Given the description of an element on the screen output the (x, y) to click on. 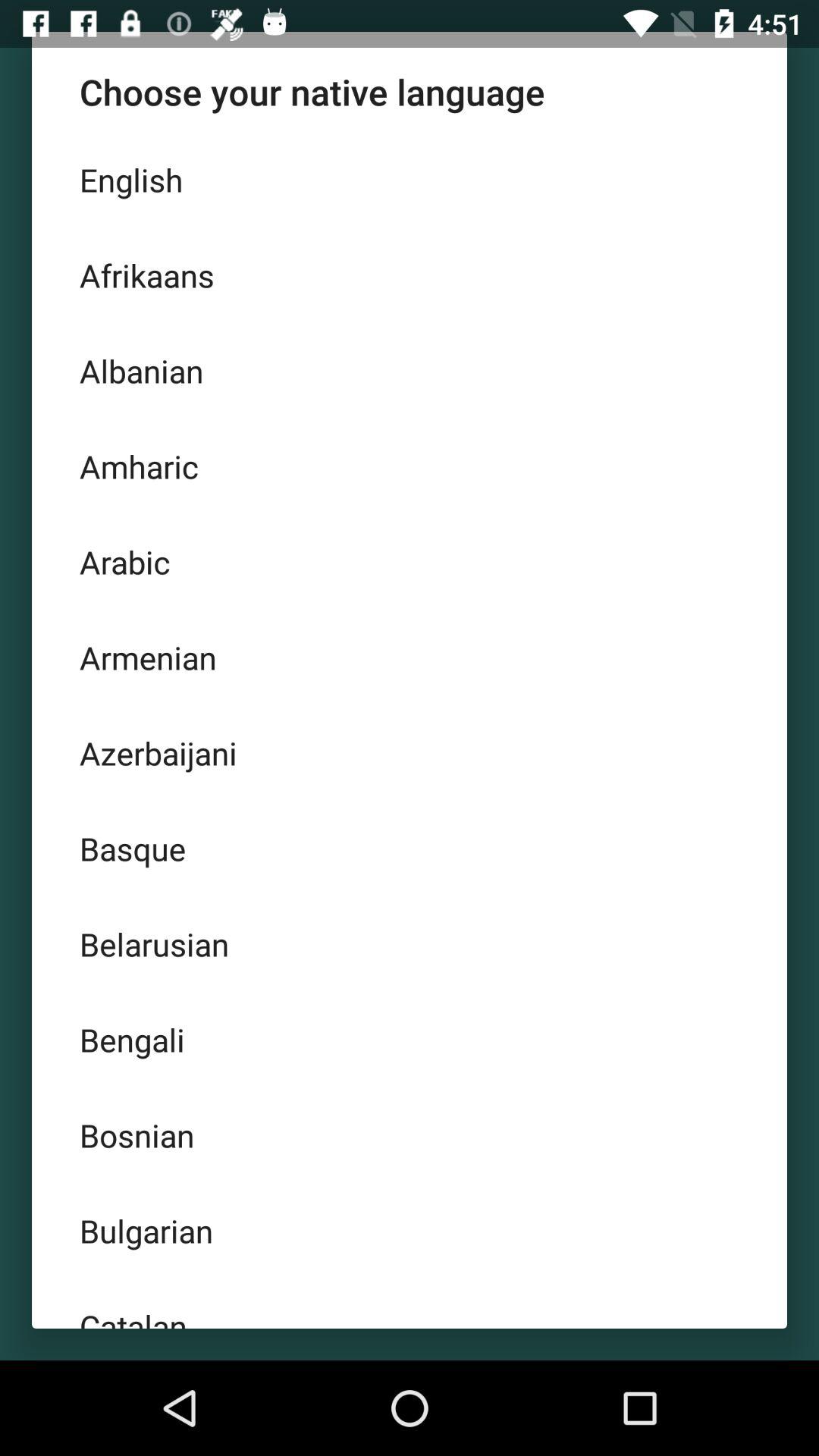
press the icon below the english icon (409, 275)
